Given the description of an element on the screen output the (x, y) to click on. 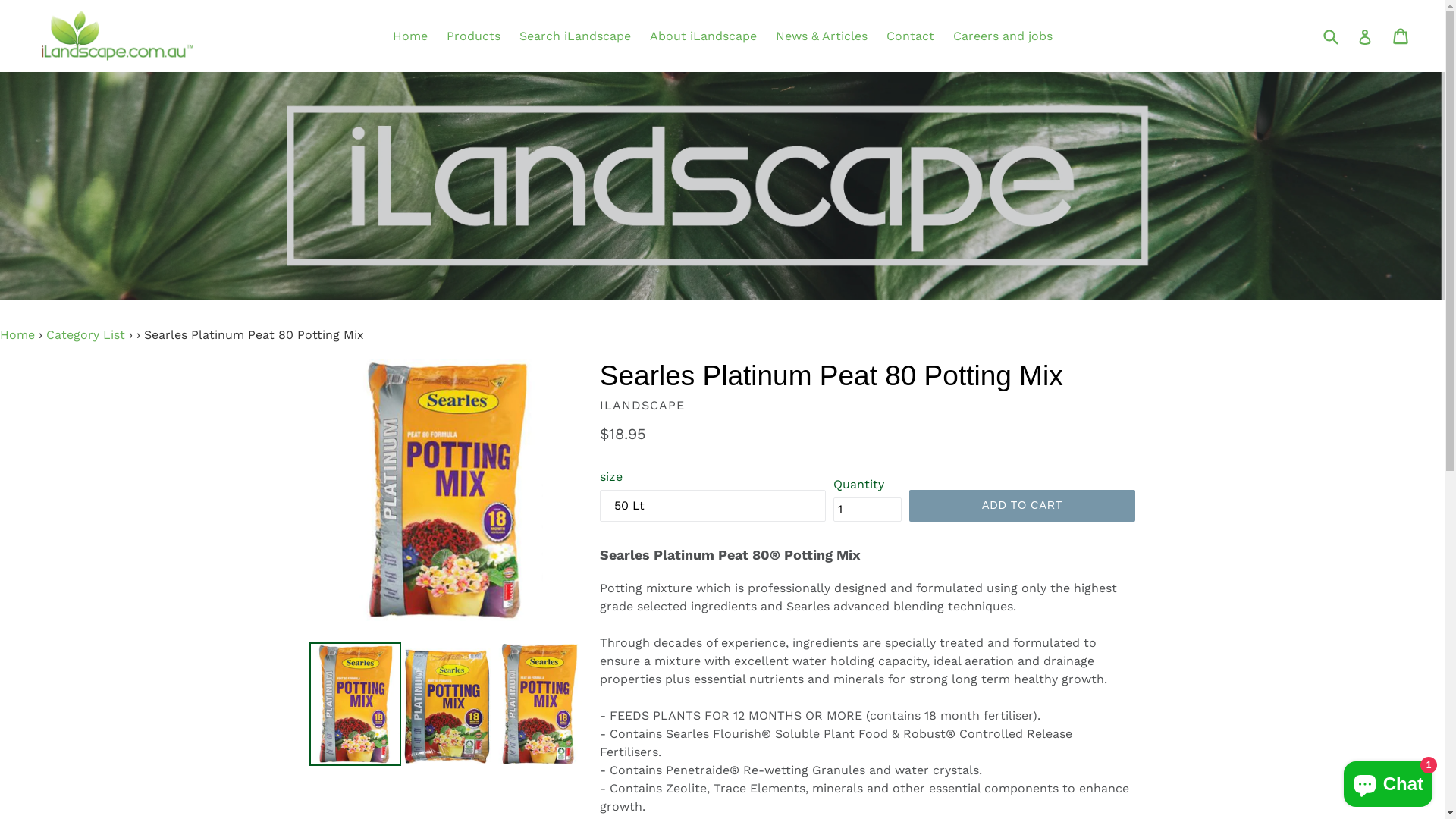
Home Element type: text (17, 334)
Search iLandscape Element type: text (574, 36)
Submit Element type: text (1329, 35)
Careers and jobs Element type: text (1001, 36)
Category List Element type: text (85, 334)
Products Element type: text (472, 36)
Cart
Cart Element type: text (1401, 35)
Log in Element type: text (1364, 36)
Contact Element type: text (909, 36)
Shopify online store chat Element type: hover (1388, 780)
About iLandscape Element type: text (702, 36)
News & Articles Element type: text (820, 36)
Home Element type: text (410, 36)
ADD TO CART Element type: text (1022, 505)
